Given the description of an element on the screen output the (x, y) to click on. 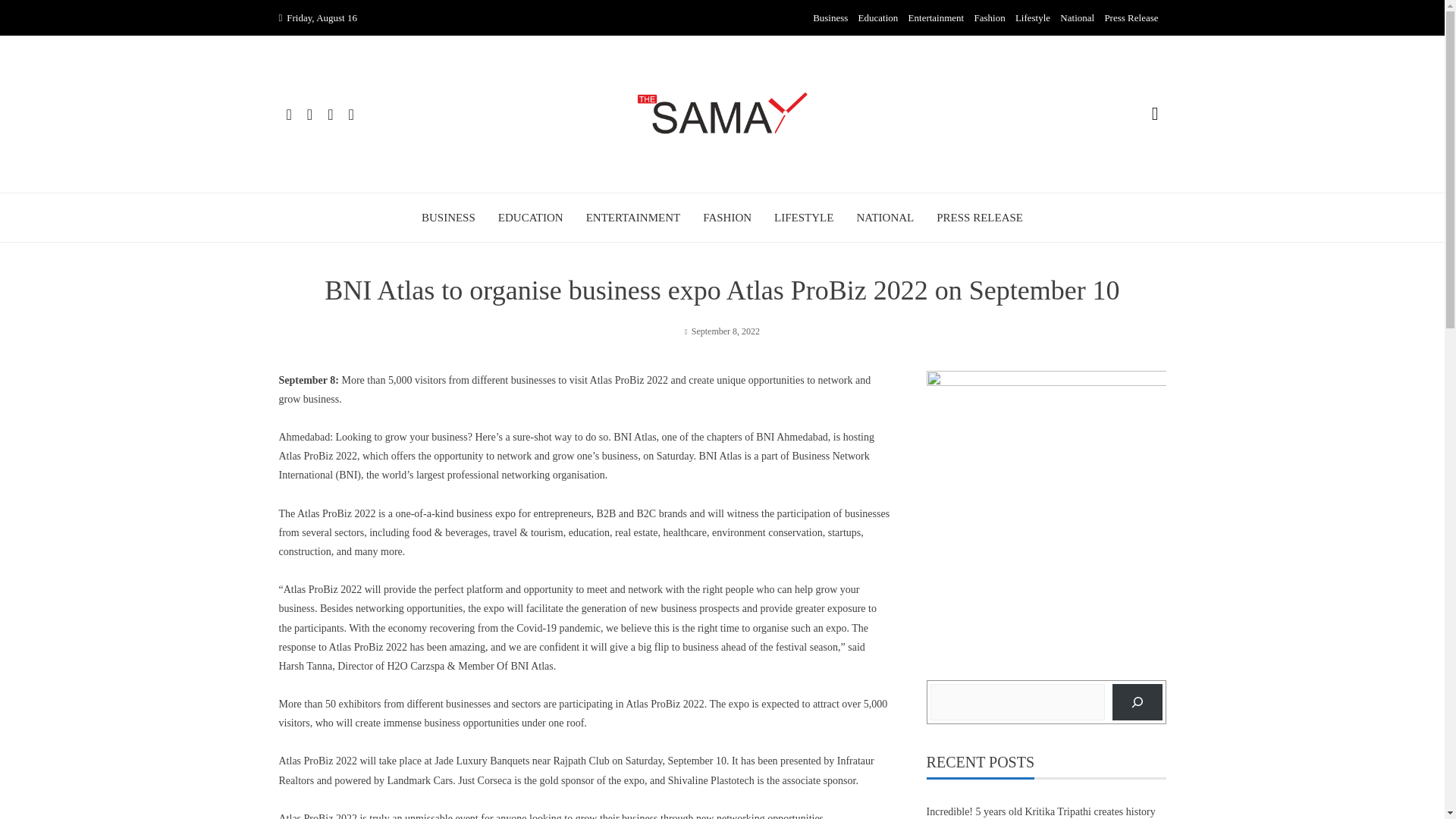
Education (878, 17)
NATIONAL (885, 217)
LIFESTYLE (803, 217)
National (1076, 17)
Fashion (989, 17)
Press Release (1130, 17)
EDUCATION (530, 217)
Entertainment (935, 17)
FASHION (727, 217)
